Given the description of an element on the screen output the (x, y) to click on. 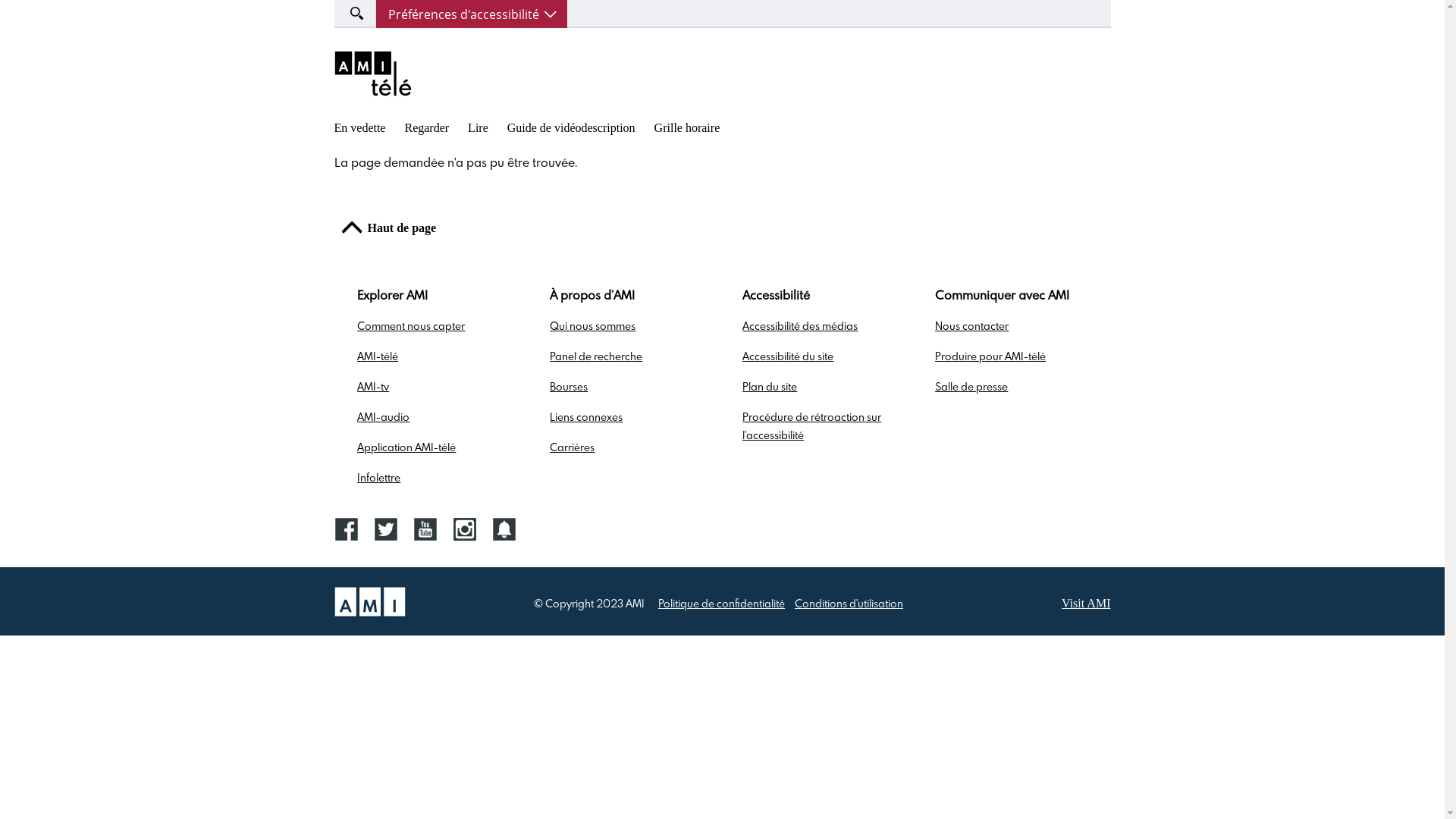
Conditions d'utilisation Element type: text (848, 604)
Plan du site Element type: text (769, 387)
Haut de page Element type: text (388, 231)
Qui nous sommes Element type: text (592, 326)
AMI-audio Element type: text (383, 417)
Lire Element type: text (477, 127)
Comment nous capter Element type: text (410, 326)
Panel de recherche Element type: text (595, 357)
Liens connexes Element type: text (585, 417)
Rechercher Element type: text (43, 12)
Salle de presse Element type: text (971, 387)
En vedette Element type: text (359, 127)
Infolettre Element type: text (378, 478)
Visit AMI Element type: text (1085, 603)
Regarder Element type: text (426, 127)
Passer au contenu principal Element type: text (0, 0)
Bourses Element type: text (568, 387)
AMI-tv Element type: text (373, 387)
Grille horaire Element type: text (687, 127)
Nous contacter Element type: text (971, 326)
